Given the description of an element on the screen output the (x, y) to click on. 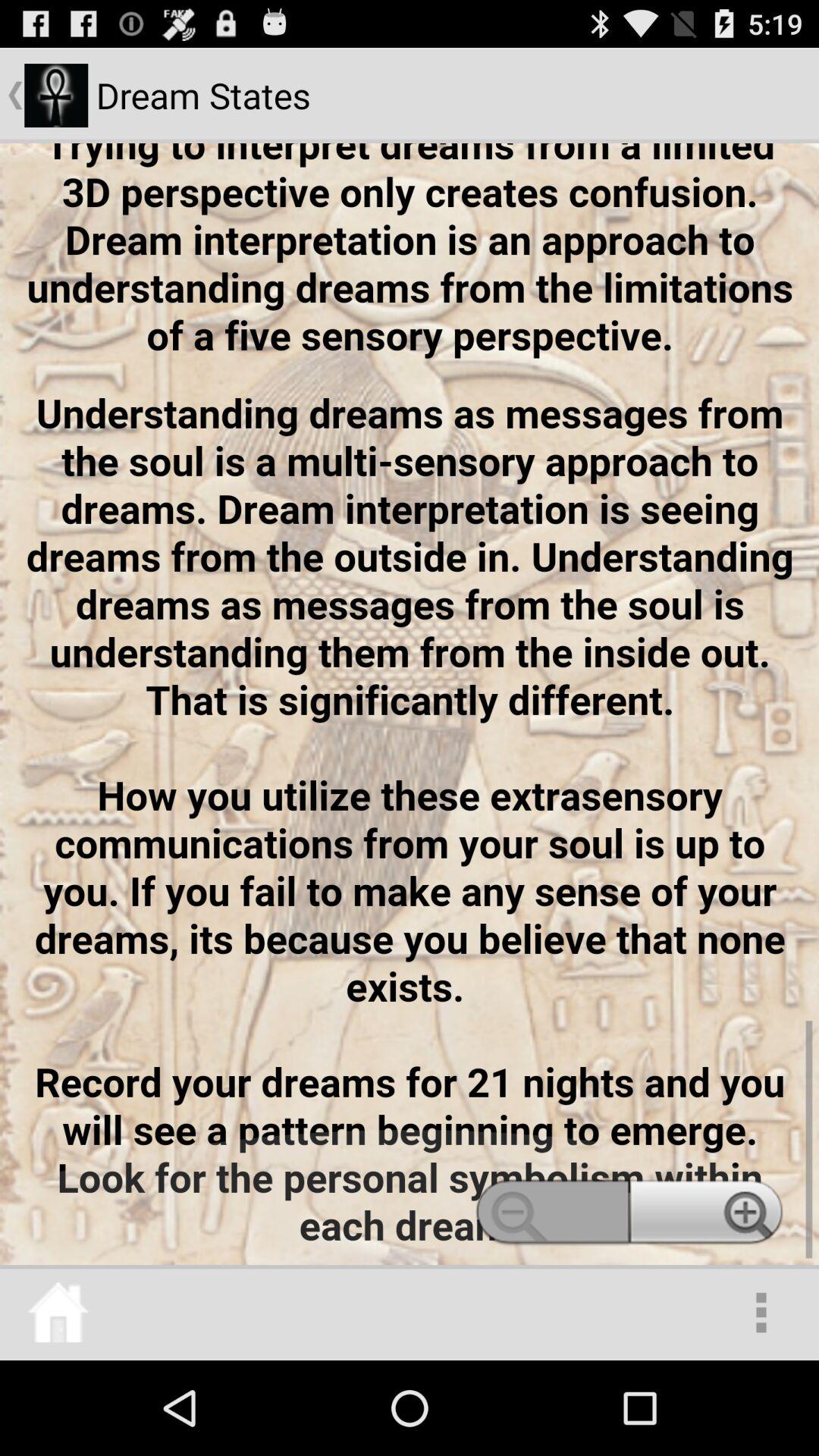
select the item at the bottom right corner (760, 1312)
